Given the description of an element on the screen output the (x, y) to click on. 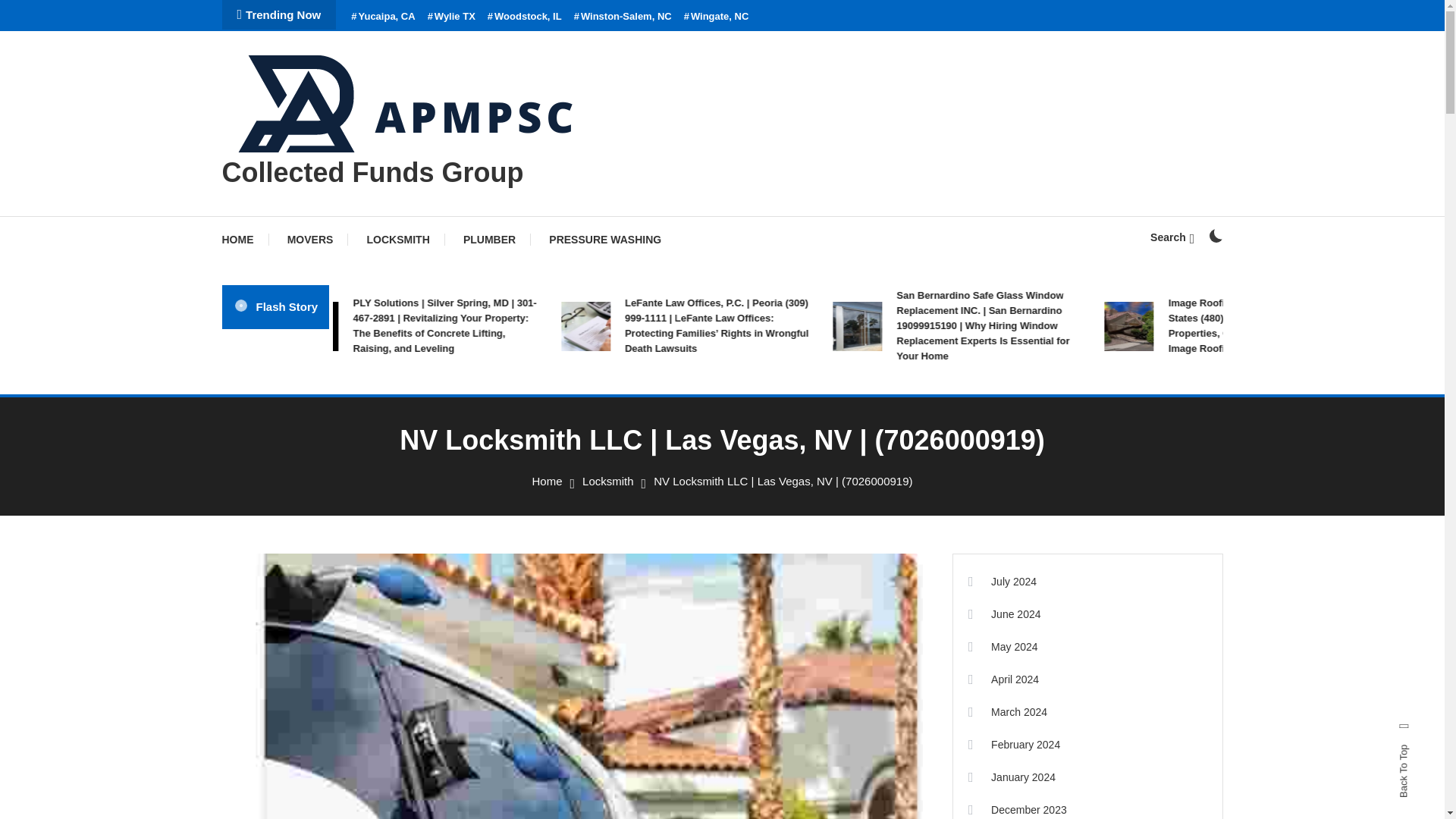
Locksmith (607, 481)
LOCKSMITH (398, 239)
Winston-Salem, NC (622, 16)
PRESSURE WASHING (605, 239)
Wingate, NC (716, 16)
on (1215, 235)
Search (768, 434)
Yucaipa, CA (382, 16)
PLUMBER (489, 239)
MOVERS (310, 239)
Collected Funds Group (371, 172)
HOME (244, 239)
Wylie TX (452, 16)
Search (1171, 236)
Woodstock, IL (524, 16)
